Given the description of an element on the screen output the (x, y) to click on. 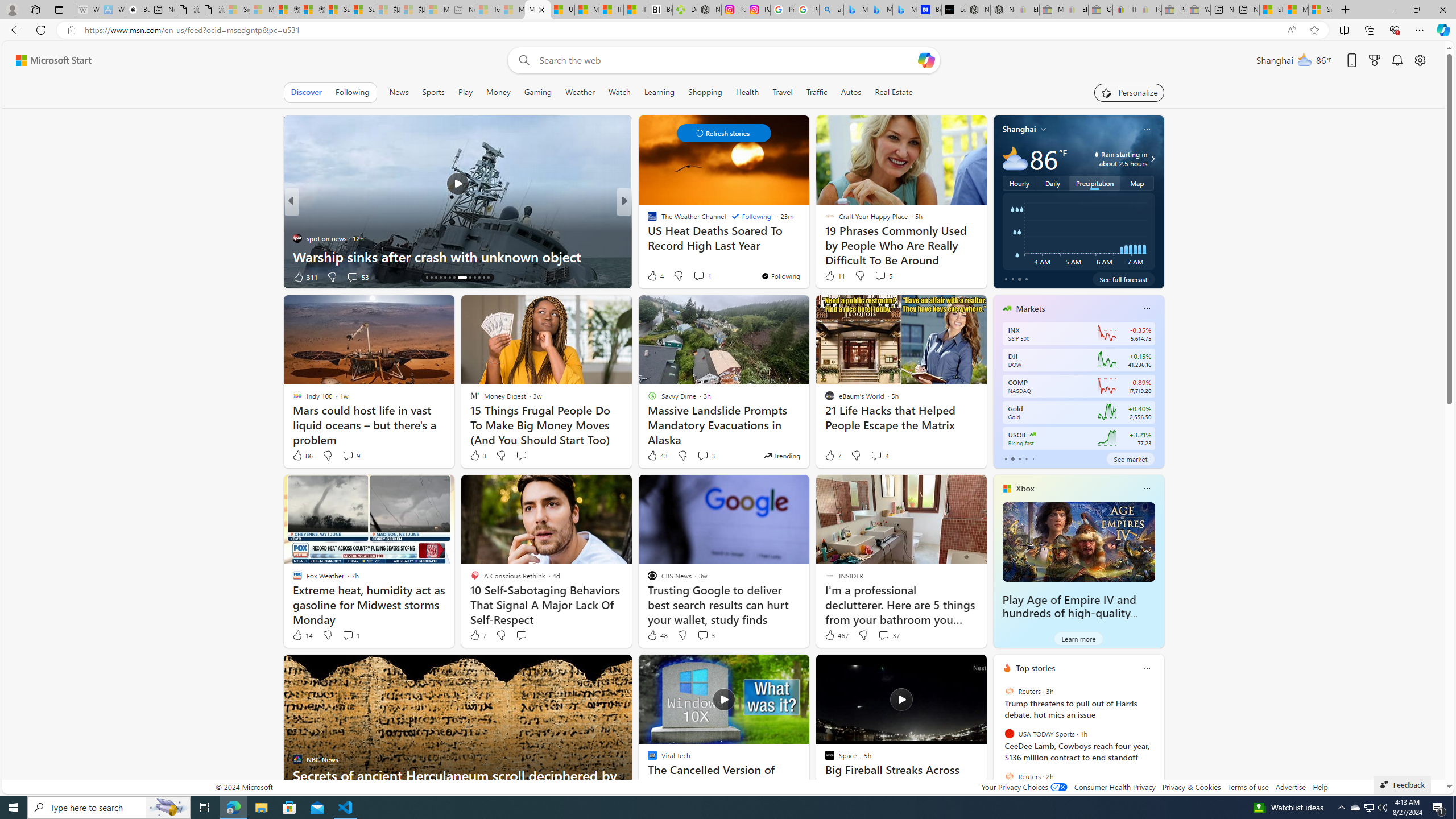
Warship sinks after crash with unknown object (457, 256)
USA TODAY Sports (1008, 733)
See full forecast (1123, 278)
View comments 2 Comment (698, 276)
Shanghai, China hourly forecast | Microsoft Weather (1271, 9)
My location (1043, 128)
